Given the description of an element on the screen output the (x, y) to click on. 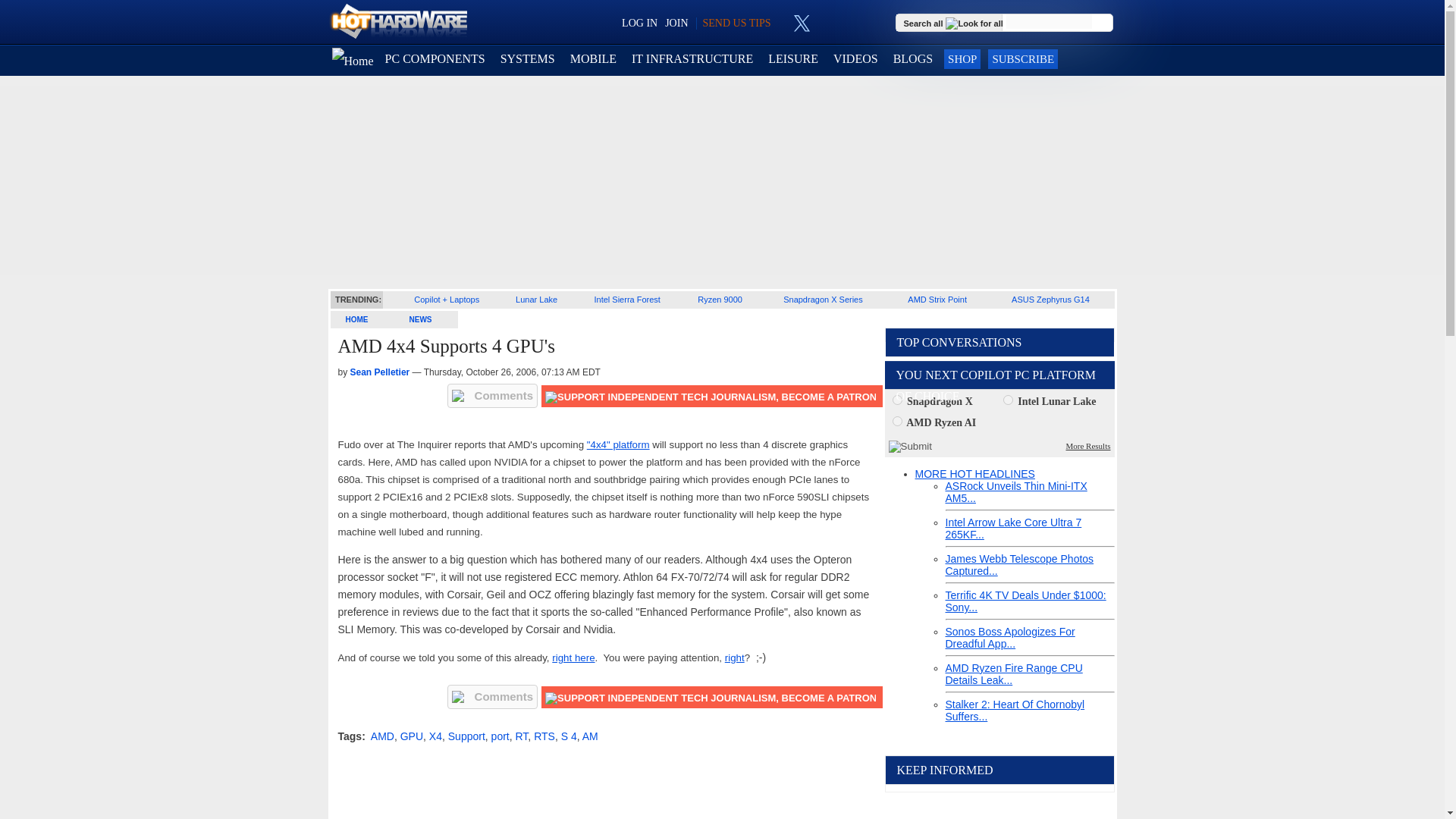
PC COMPONENTS (435, 58)
757 (896, 399)
Go (1103, 22)
keyword (1049, 21)
Comments (492, 395)
759 (896, 420)
Go (1103, 22)
LOG IN (639, 22)
Search all (955, 22)
Blogs (912, 58)
SEND US TIPS (735, 22)
SIGN OUT (39, 18)
JOIN (676, 22)
758 (1008, 399)
Go (1103, 22)
